Given the description of an element on the screen output the (x, y) to click on. 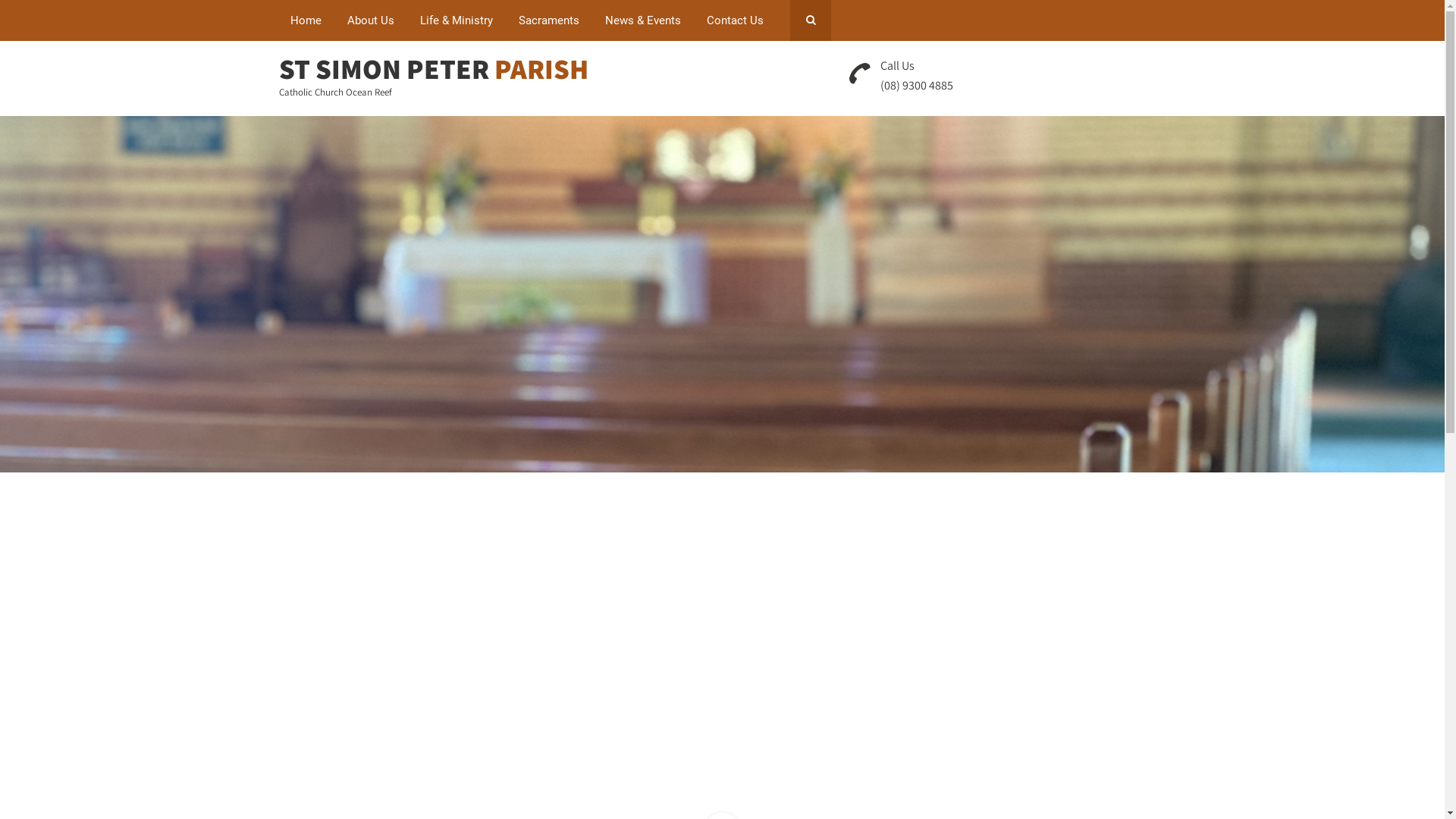
ST SIMON PETER PARISH Element type: text (433, 68)
Home Element type: text (305, 20)
Life & Ministry Element type: text (455, 20)
Contact Us Element type: text (734, 20)
Sacraments Element type: text (547, 20)
About Us Element type: text (369, 20)
News & Events Element type: text (642, 20)
